Given the description of an element on the screen output the (x, y) to click on. 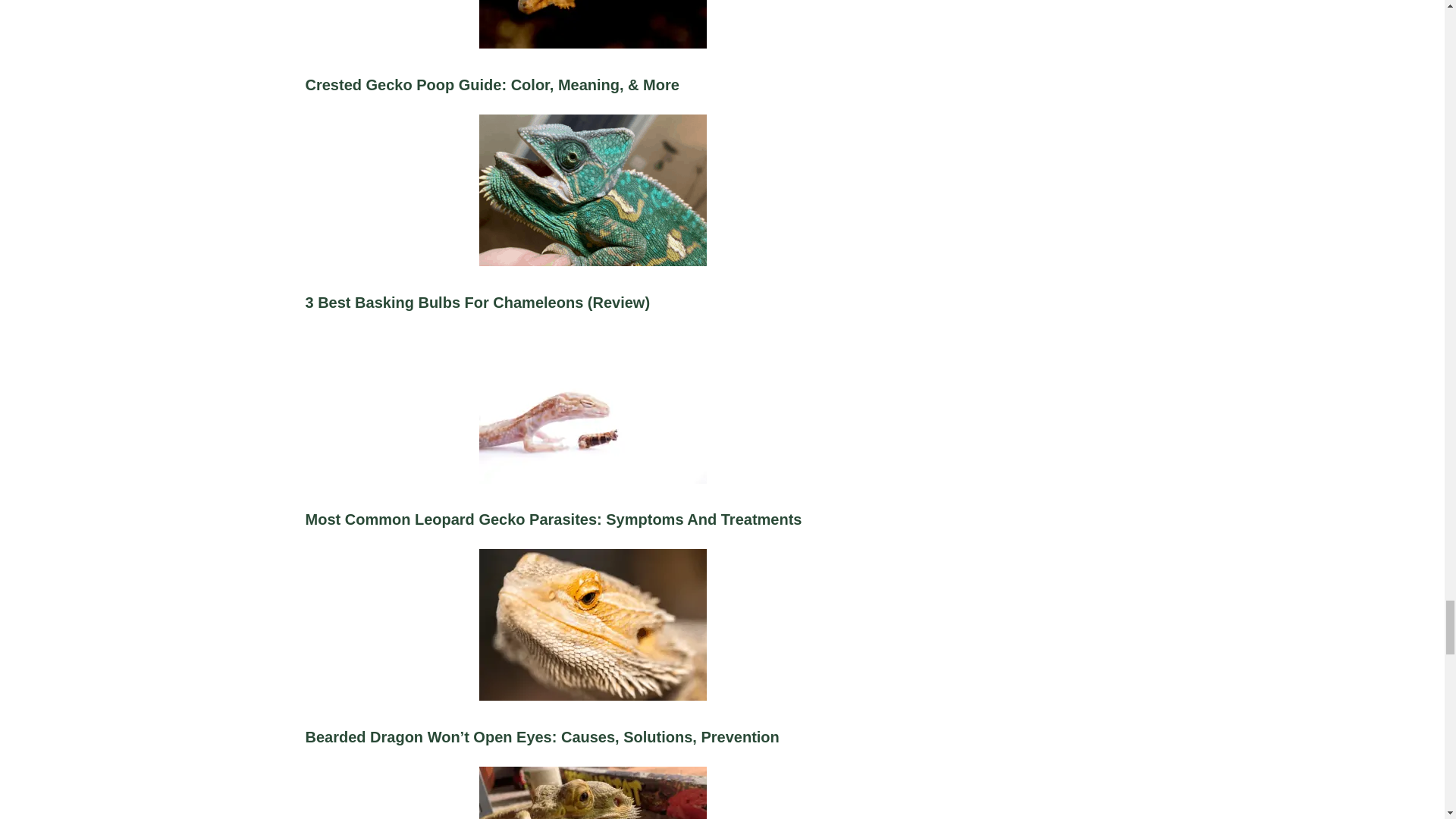
How To Set Up A Bioactive Substrate For Bearded Dragons (592, 792)
